Given the description of an element on the screen output the (x, y) to click on. 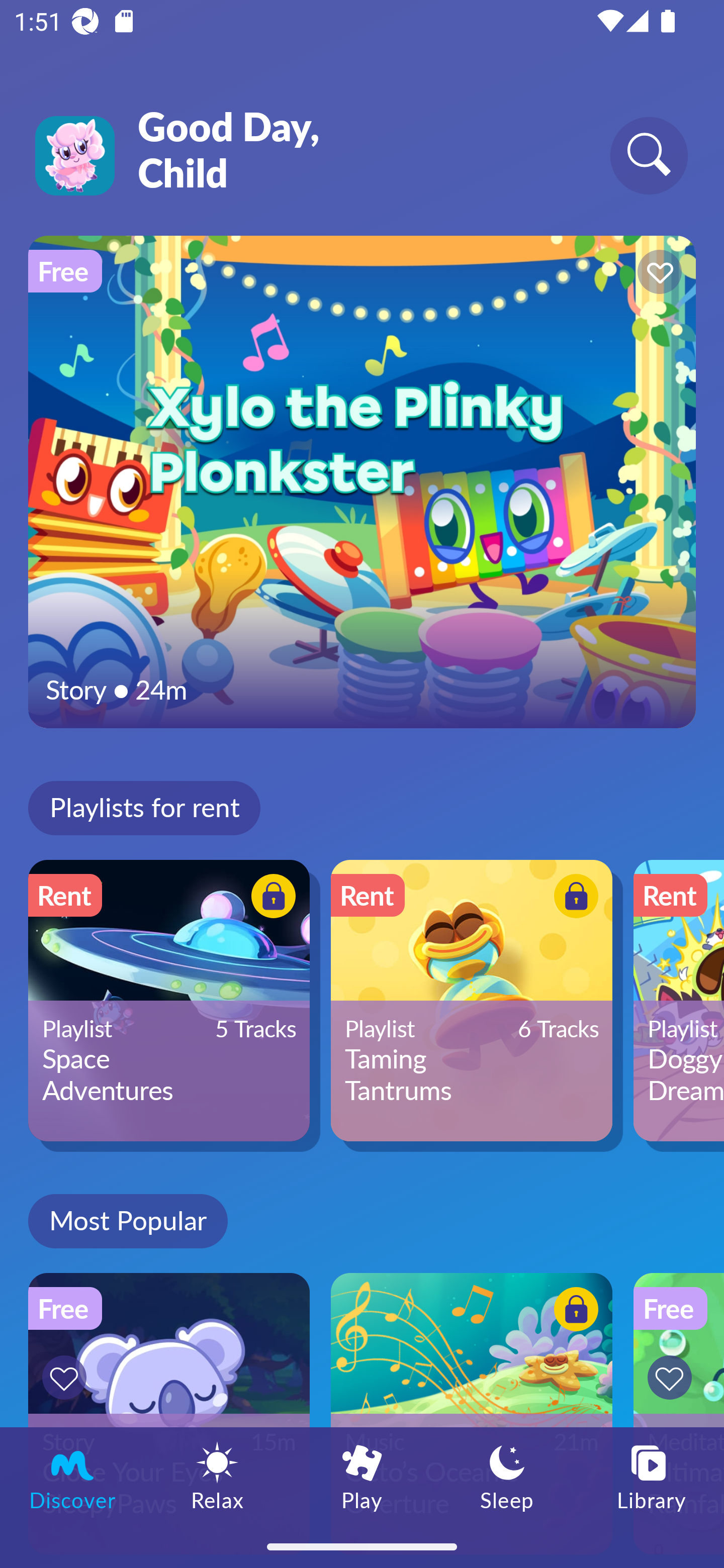
Search (648, 154)
Featured Content Free Button Story ● 24m (361, 481)
Button (656, 274)
Button (269, 898)
Button (573, 898)
Button (573, 1312)
Button (67, 1377)
Button (672, 1377)
Relax (216, 1475)
Play (361, 1475)
Sleep (506, 1475)
Library (651, 1475)
